Given the description of an element on the screen output the (x, y) to click on. 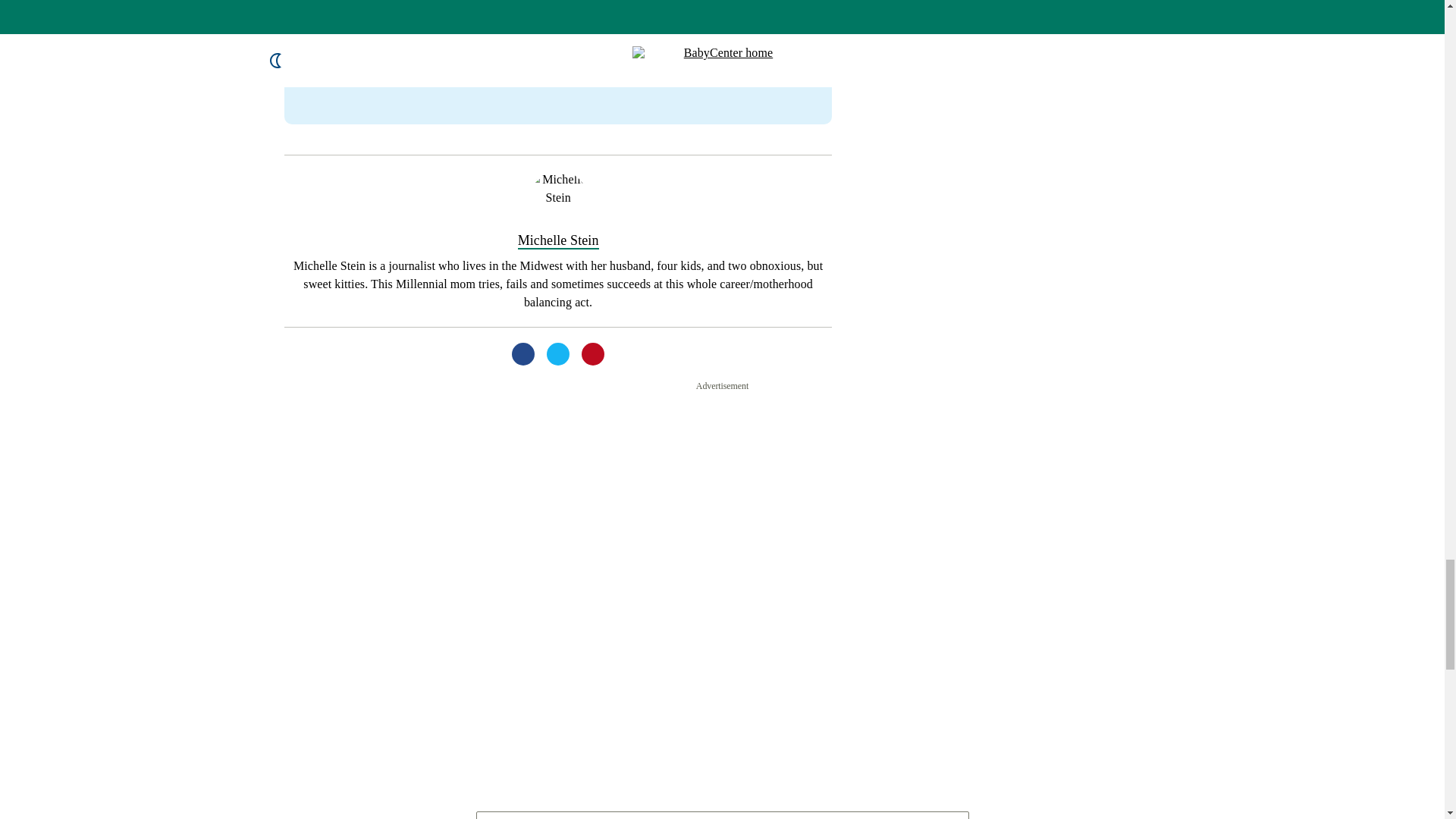
Facebook (523, 38)
Twitter (558, 38)
Pinterest (592, 38)
